Given the description of an element on the screen output the (x, y) to click on. 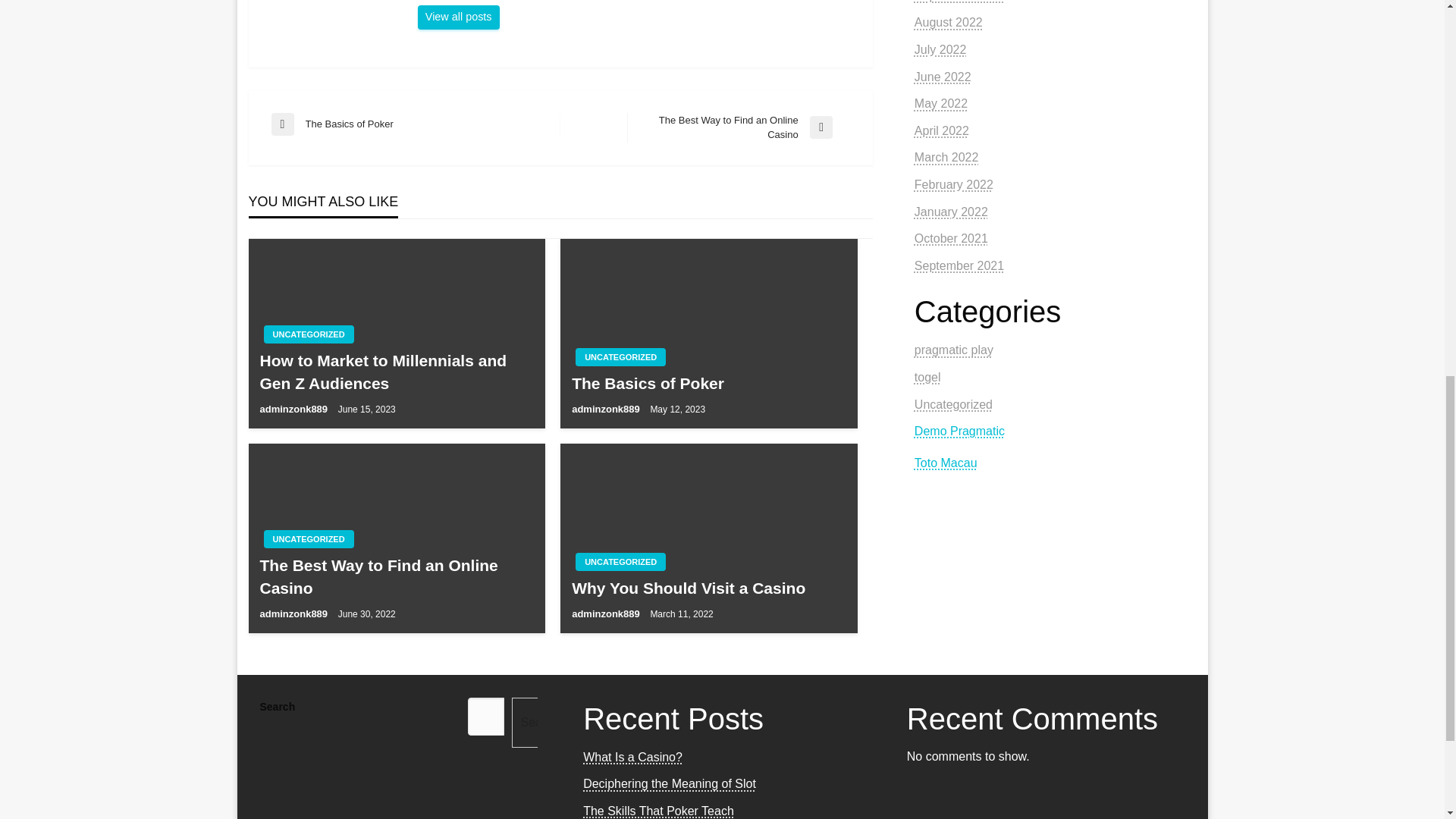
View all posts (458, 16)
adminzonk889 (738, 127)
UNCATEGORIZED (607, 613)
How to Market to Millennials and Gen Z Audiences (308, 538)
The Basics of Poker (396, 371)
UNCATEGORIZED (708, 382)
Why You Should Visit a Casino (620, 357)
The Best Way to Find an Online Casino (708, 587)
UNCATEGORIZED (396, 576)
adminzonk889 (415, 124)
UNCATEGORIZED (620, 561)
adminzonk889 (294, 613)
adminzonk889 (308, 334)
